Given the description of an element on the screen output the (x, y) to click on. 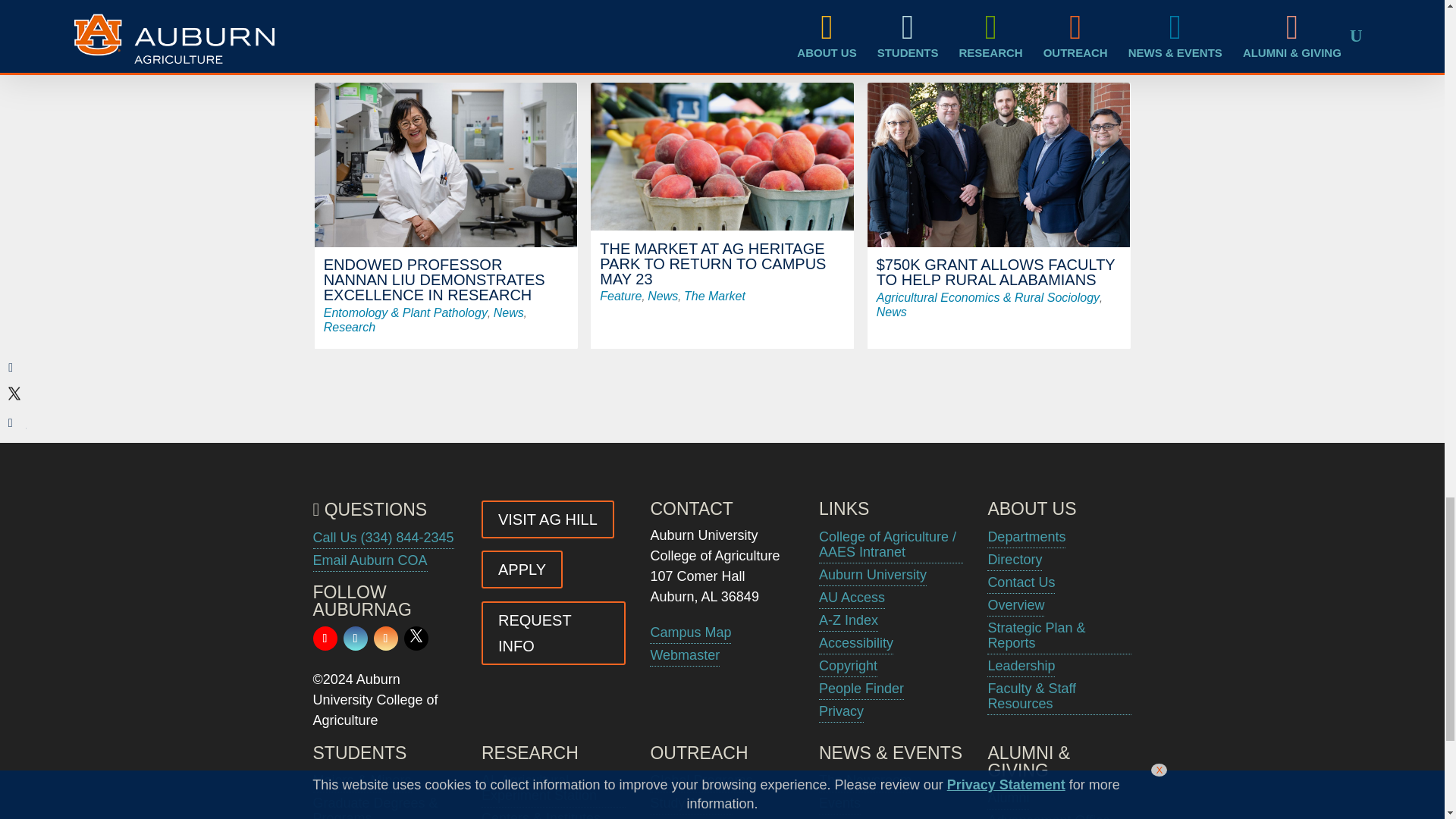
General Email for Auburn University College of Agriculture (369, 559)
Follow on Facebook (354, 638)
Follow on Youtube (324, 638)
Follow on Instagram (384, 638)
Follow on X (415, 638)
